Given the description of an element on the screen output the (x, y) to click on. 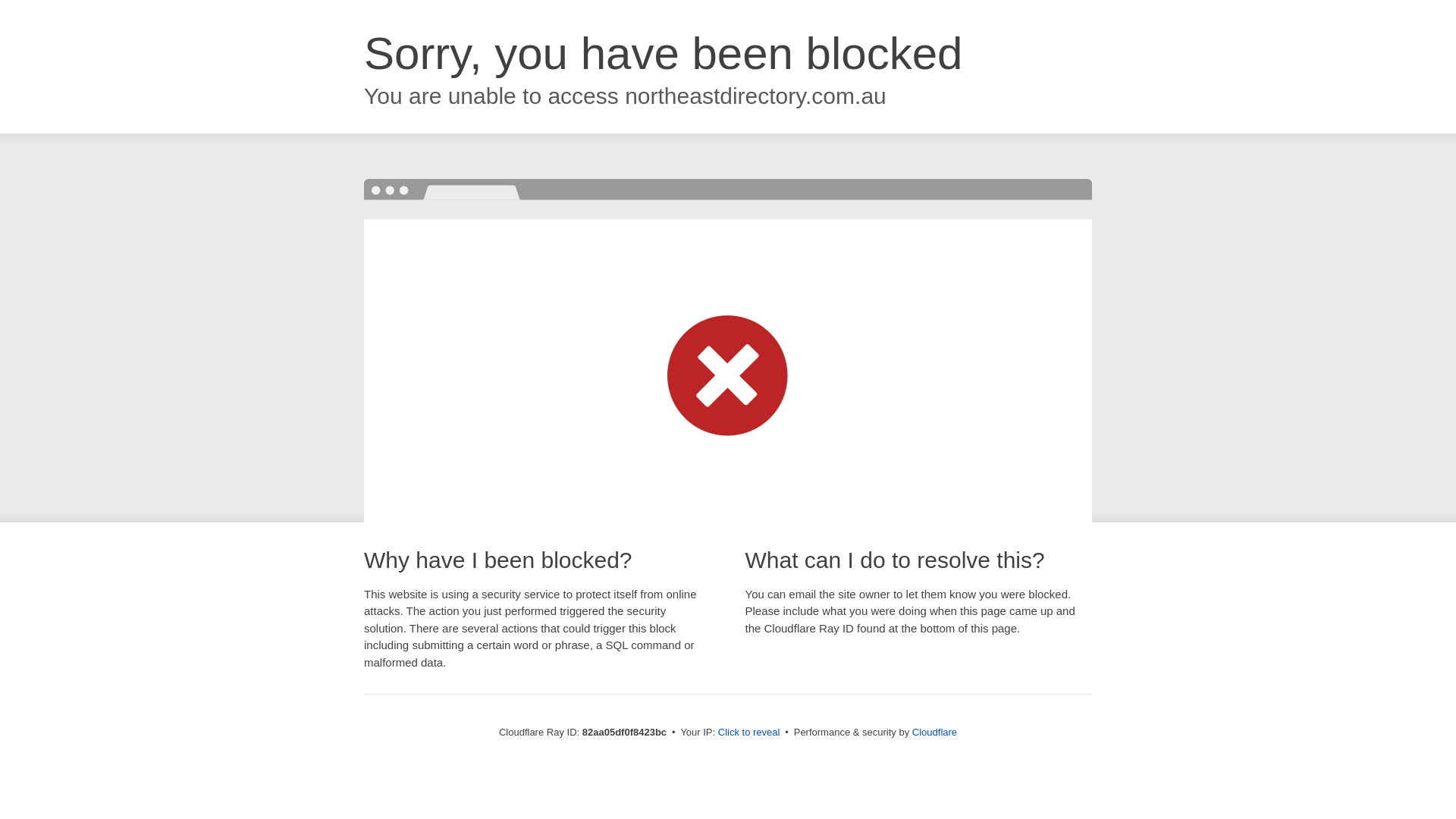
Click to reveal Element type: text (749, 732)
Cloudflare Element type: text (934, 731)
